Given the description of an element on the screen output the (x, y) to click on. 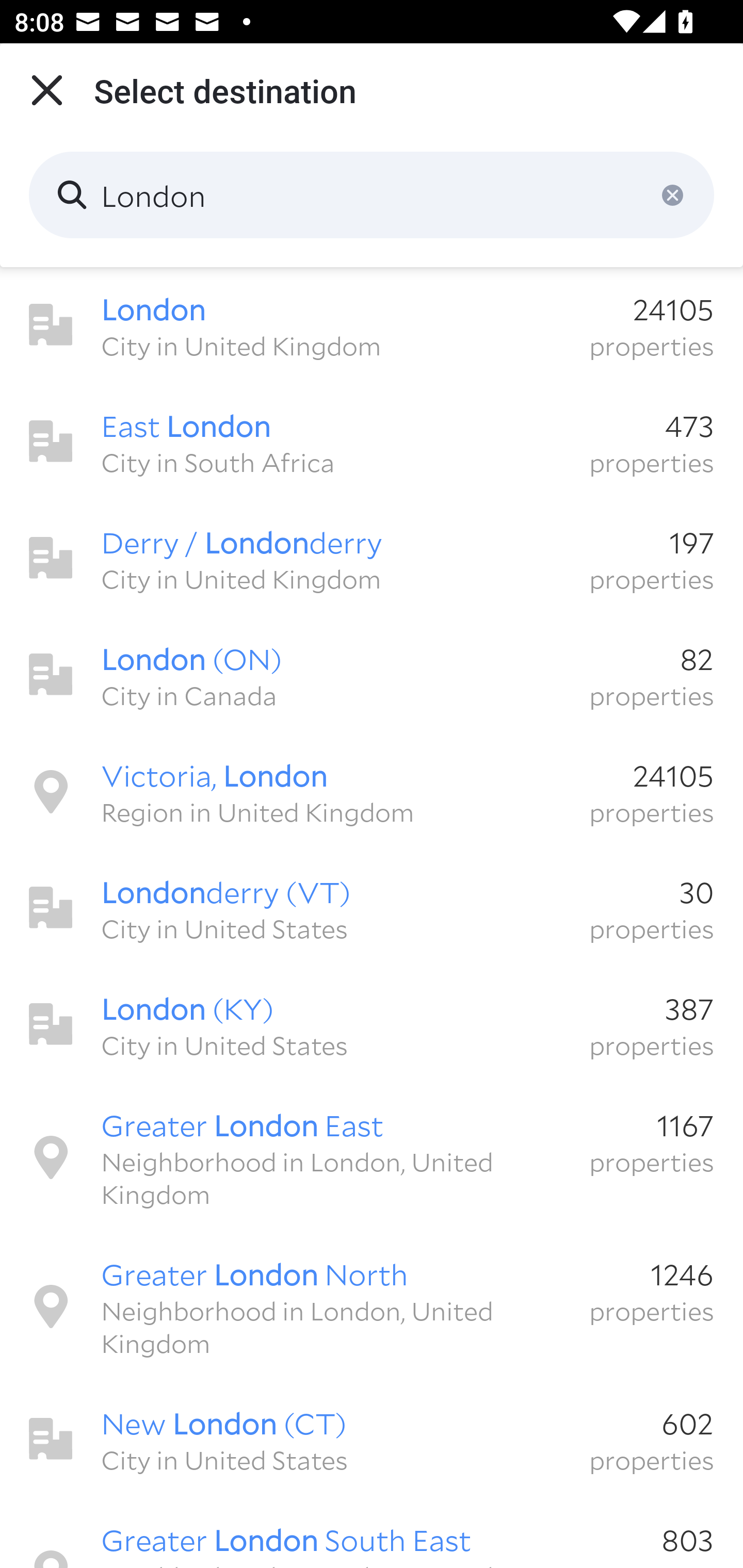
London (371, 195)
London 24105 City in United Kingdom properties (371, 325)
East London 473 City in South Africa properties (371, 442)
London (ON) 82 City in Canada properties (371, 674)
London (KY) 387 City in United States properties (371, 1024)
